Given the description of an element on the screen output the (x, y) to click on. 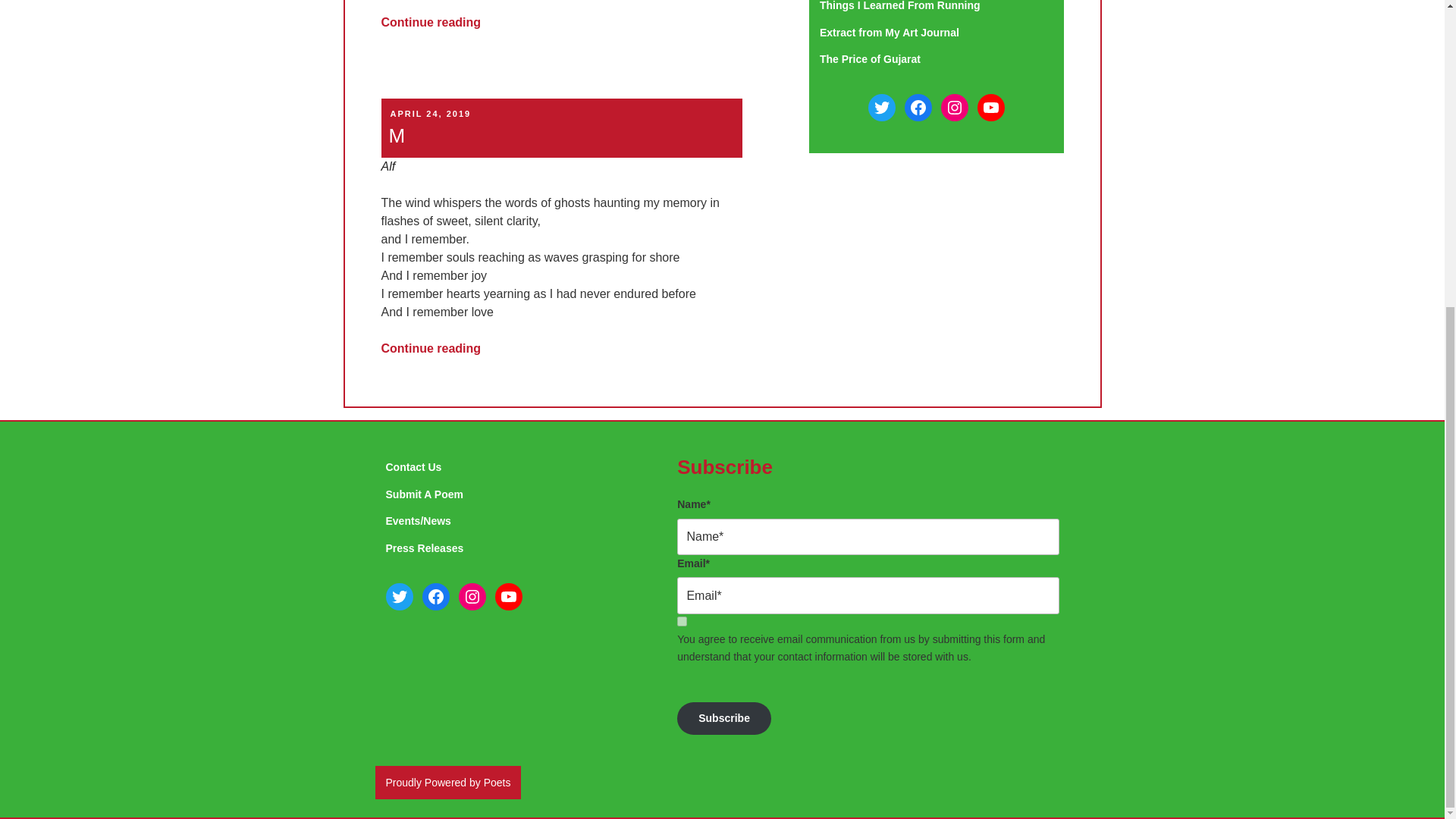
Facebook (917, 107)
Instagram (954, 107)
Twitter (881, 107)
Things I Learned From Running (899, 5)
APRIL 24, 2019 (430, 112)
YouTube (990, 107)
Extract from My Art Journal (889, 32)
Alf (387, 165)
on (682, 621)
The Price of Gujarat (869, 59)
